Given the description of an element on the screen output the (x, y) to click on. 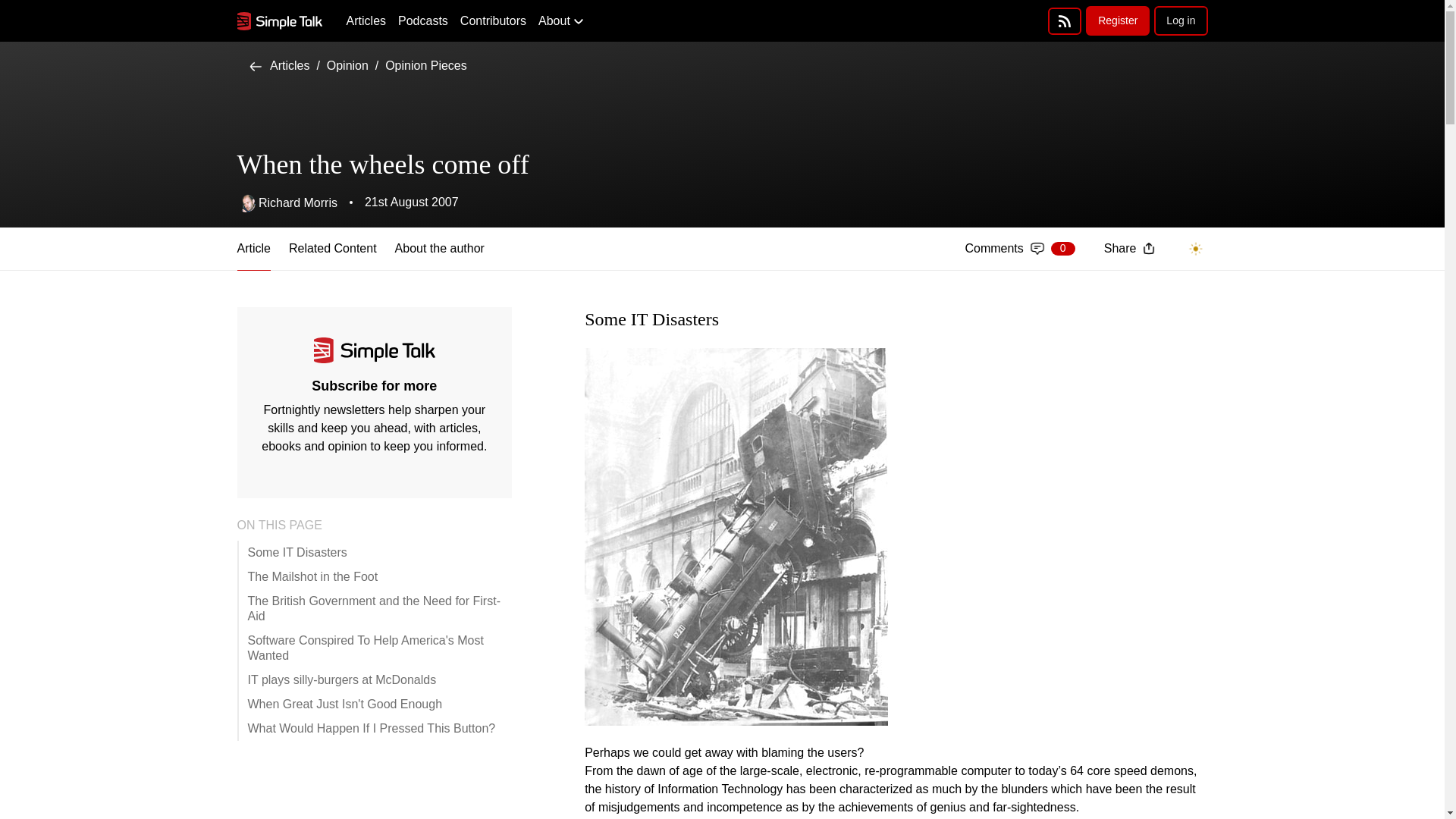
Contributors (492, 21)
Podcasts (422, 21)
Articles (278, 65)
Opinion Pieces (426, 65)
Articles (365, 21)
About the author (439, 248)
Related Content (332, 248)
Richard Morris (285, 202)
Simple Talk RSS feed (1018, 248)
